Given the description of an element on the screen output the (x, y) to click on. 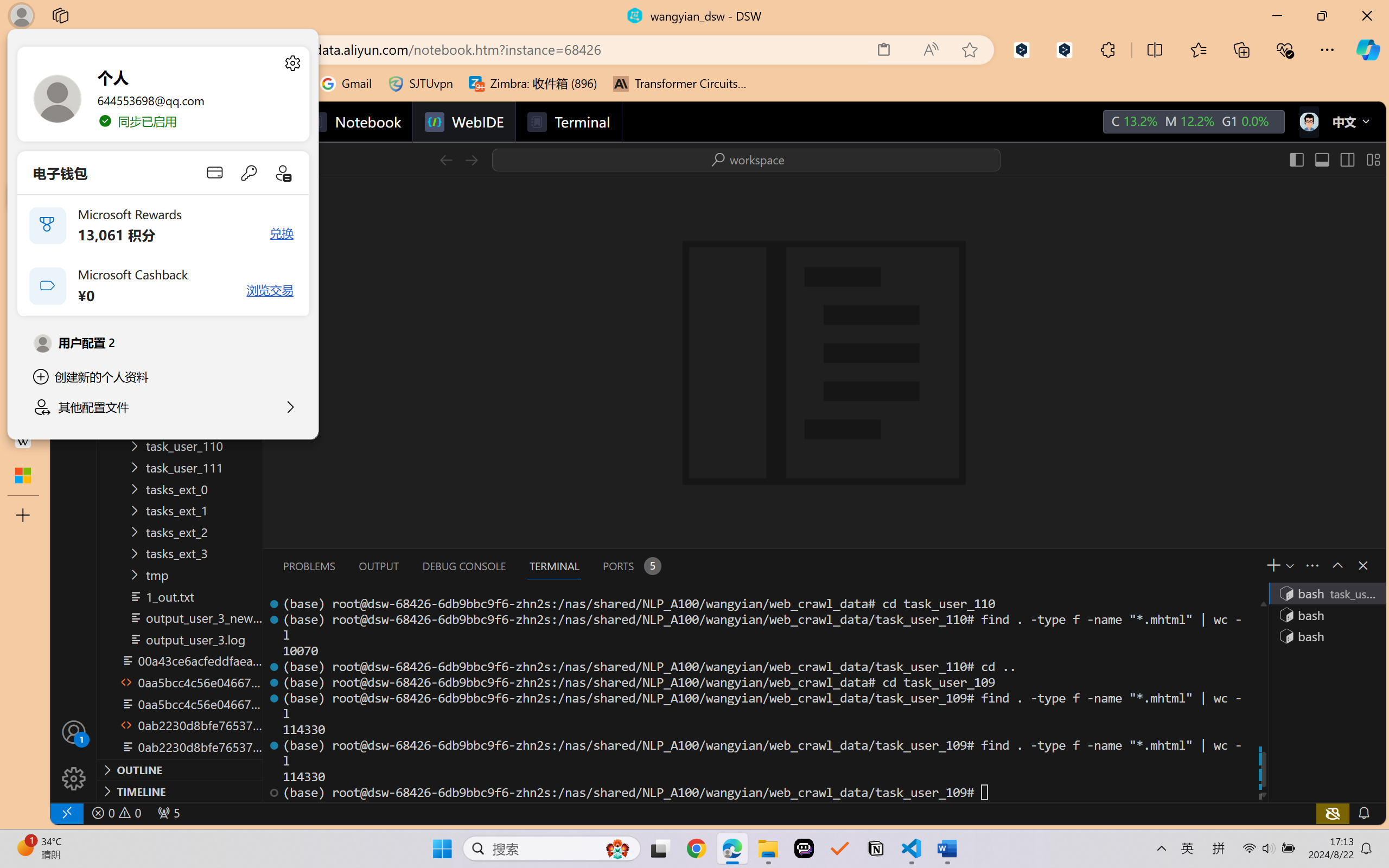
Output (Ctrl+Shift+U) (377, 565)
Timeline Section (179, 791)
Title actions (1333, 159)
SJTUvpn (419, 83)
Terminal 1 bash (1326, 593)
Terminal 2 bash (1326, 614)
